Given the description of an element on the screen output the (x, y) to click on. 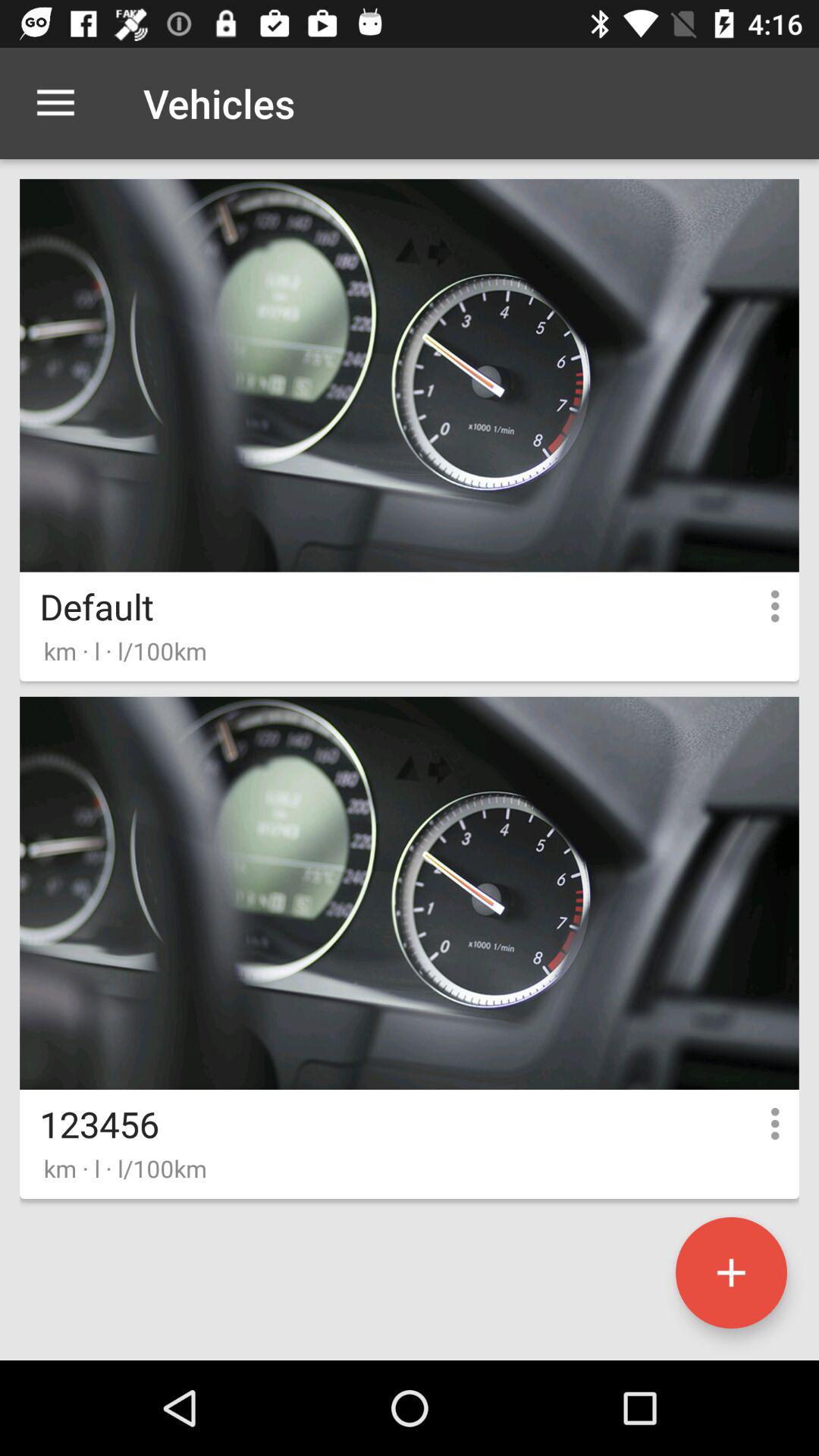
add vehicle (731, 1272)
